Given the description of an element on the screen output the (x, y) to click on. 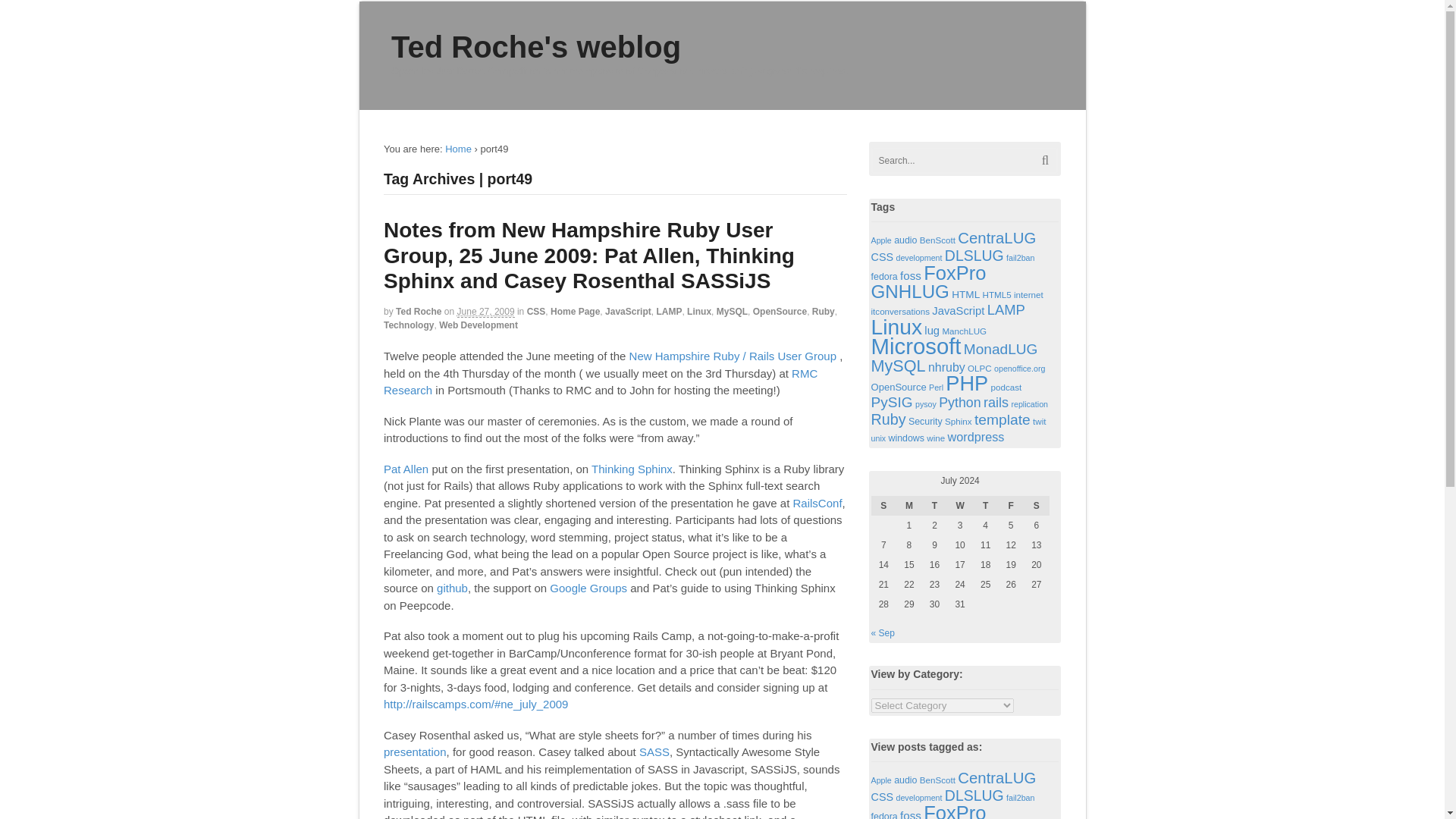
development (918, 257)
Monday (908, 505)
View all items in Technology (408, 325)
fail2ban (1019, 257)
Thinking Sphinx (631, 468)
Ted Roche's weblog (536, 46)
View all items in OpenSource (779, 311)
Web Development (478, 325)
MySQL (732, 311)
DLSLUG (974, 255)
audio (905, 240)
foss (910, 275)
Technology (408, 325)
Google Groups (588, 587)
